Given the description of an element on the screen output the (x, y) to click on. 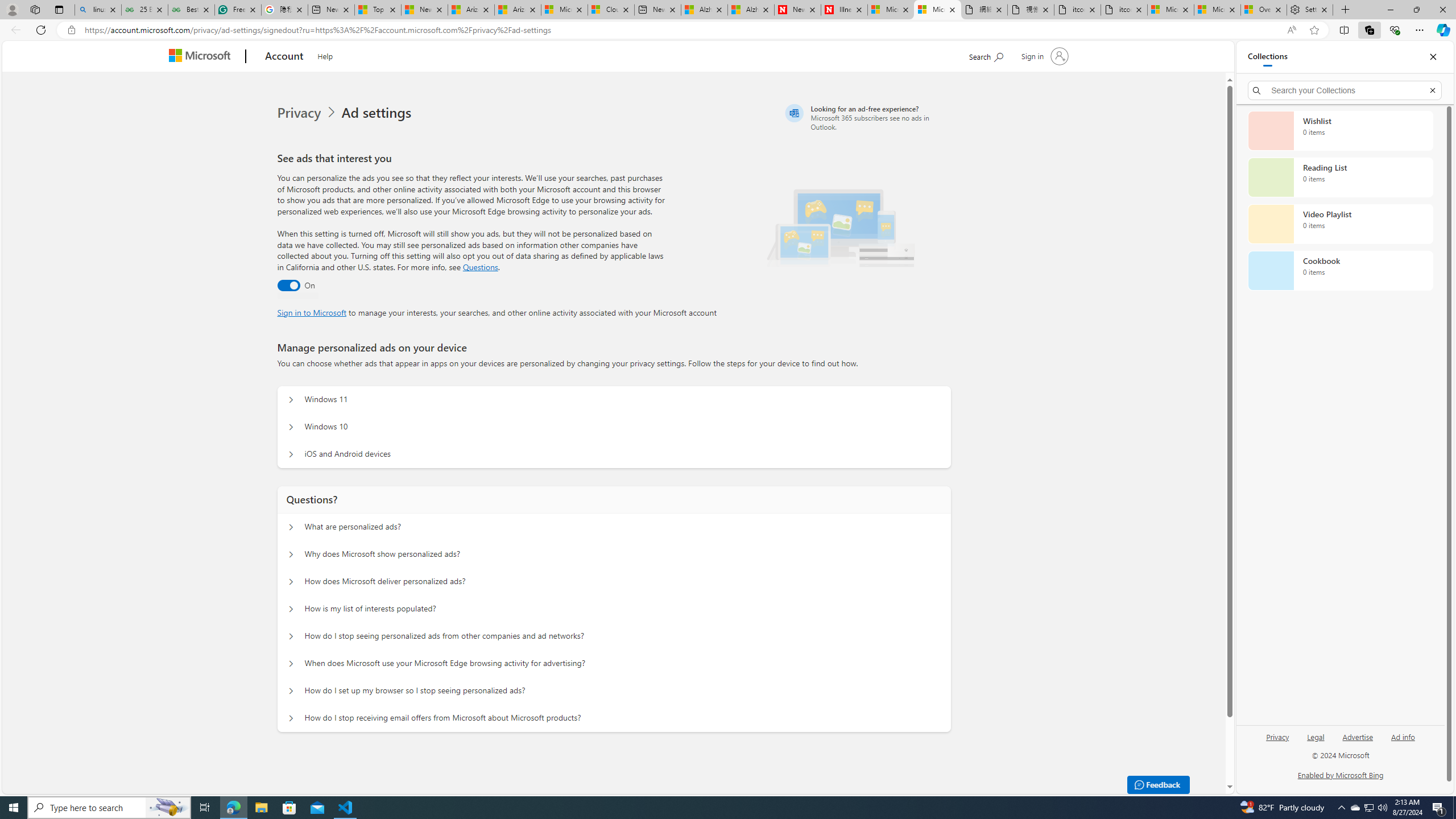
Illness news & latest pictures from Newsweek.com (844, 9)
Advertise (1357, 736)
Questions? What are personalized ads? (290, 526)
Reading List collection, 0 items (1339, 177)
Free AI Writing Assistance for Students | Grammarly (237, 9)
Microsoft account | Privacy (1216, 9)
